Given the description of an element on the screen output the (x, y) to click on. 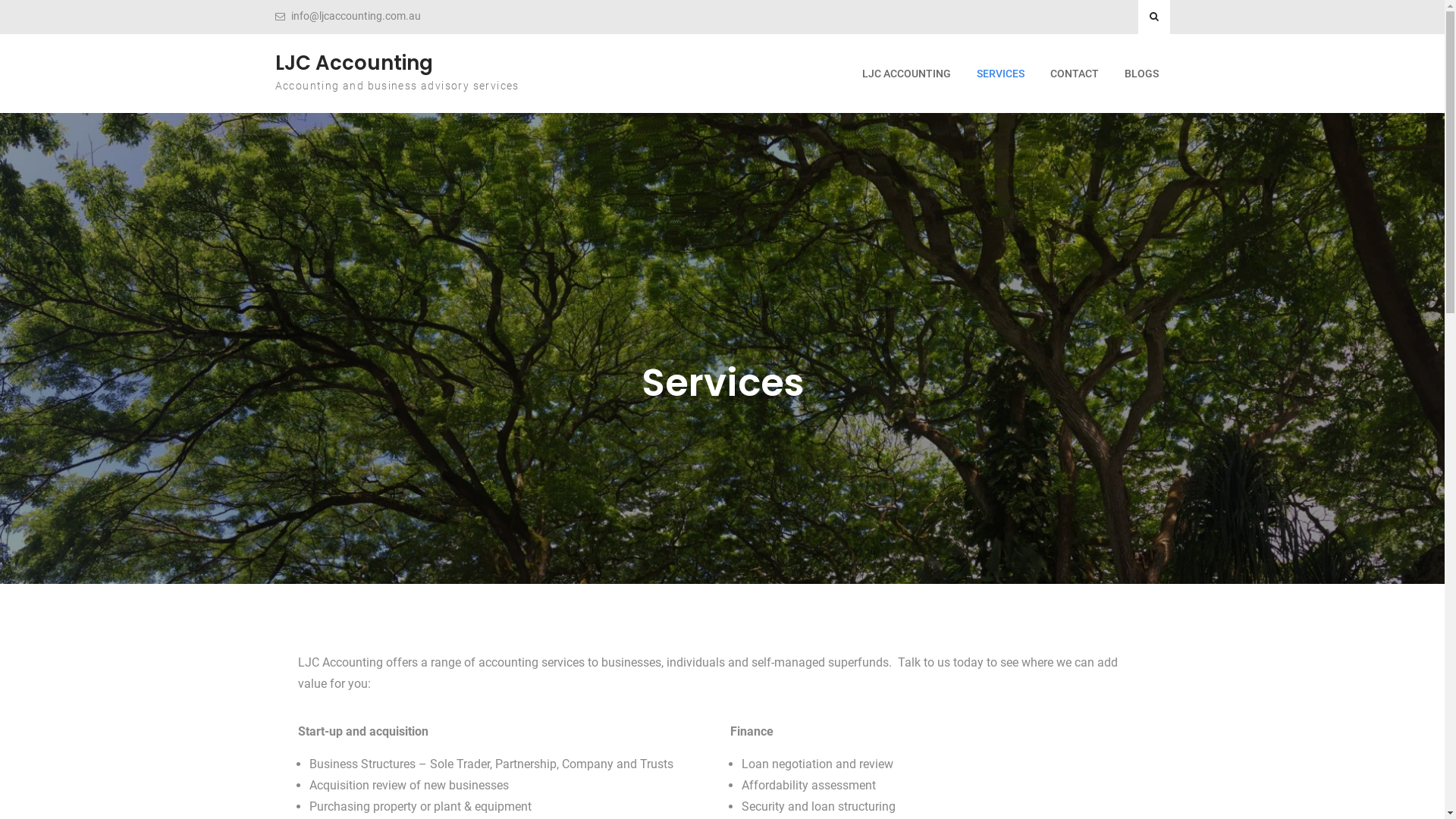
LJC Accounting Element type: text (353, 62)
BLOGS Element type: text (1141, 73)
LJC ACCOUNTING Element type: text (906, 73)
info@ljcaccounting.com.au Element type: text (355, 16)
CONTACT Element type: text (1074, 73)
SERVICES Element type: text (999, 73)
